Given the description of an element on the screen output the (x, y) to click on. 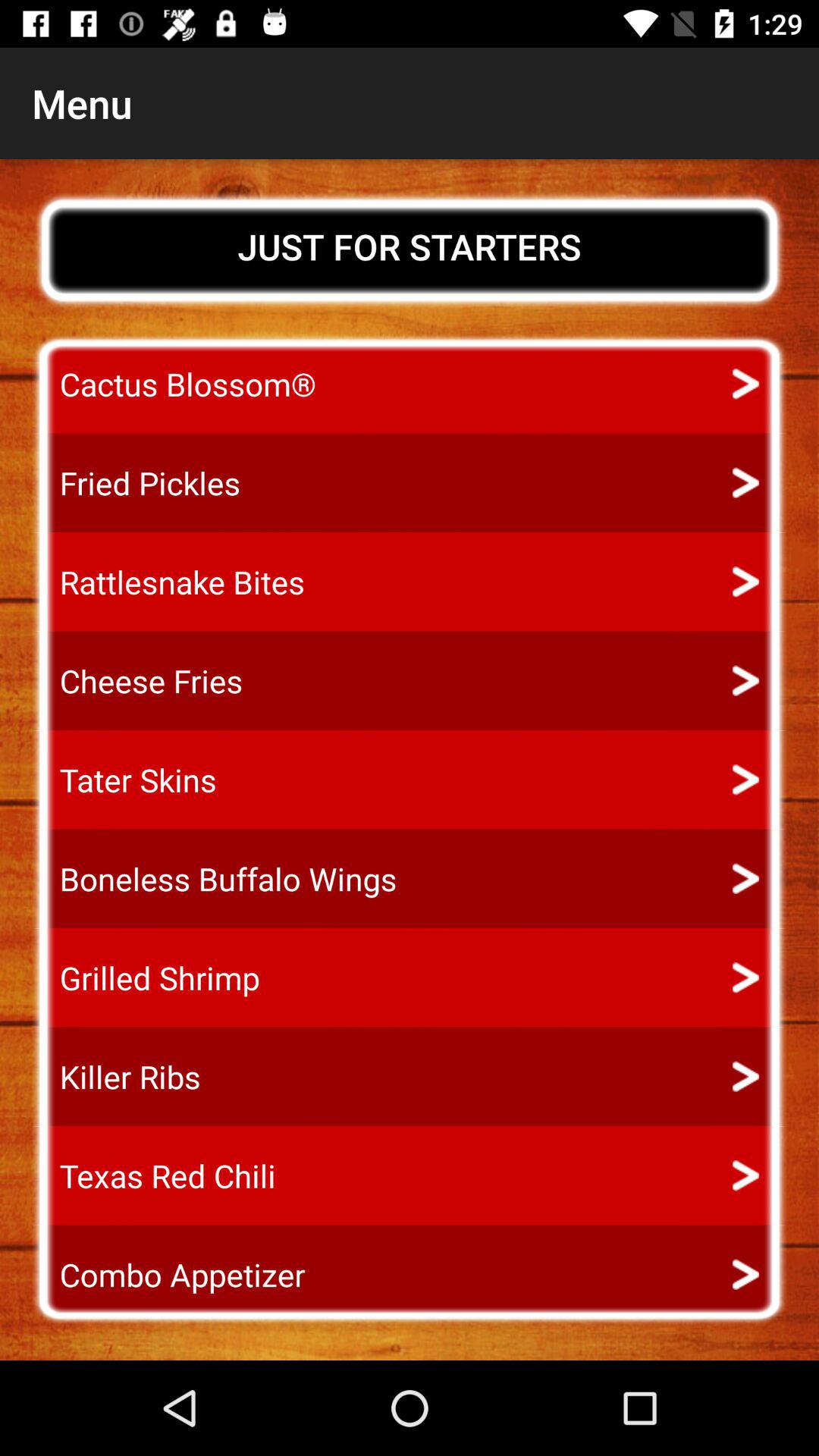
tap the app above tater skins icon (136, 680)
